Given the description of an element on the screen output the (x, y) to click on. 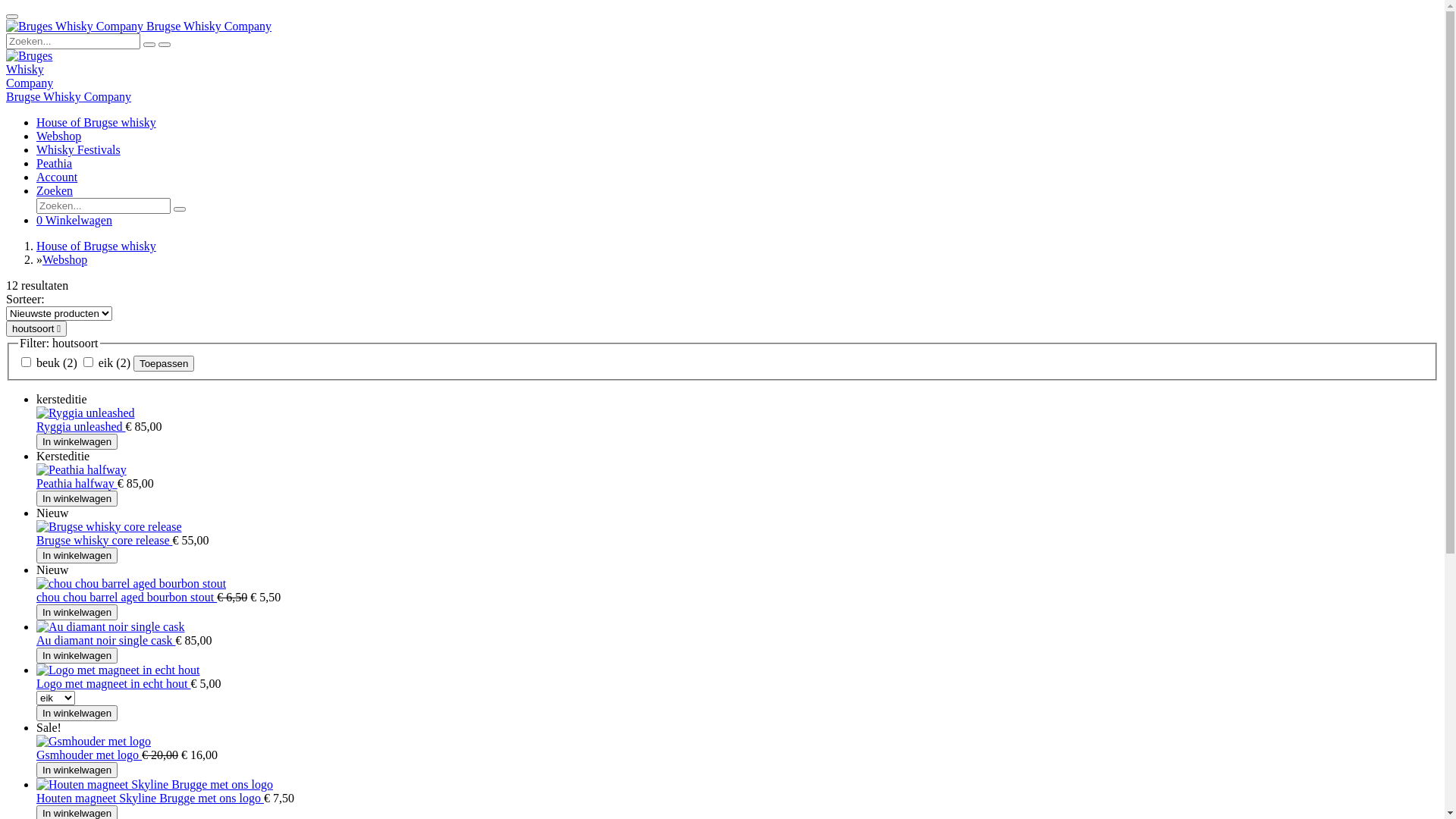
Ryggia unleashed Element type: text (80, 426)
In winkelwagen Element type: text (76, 612)
Houten magneet Skyline Brugge met ons logo Element type: text (149, 797)
In winkelwagen Element type: text (76, 713)
Bruges Whisky Company Element type: hover (74, 26)
Zoeken Element type: text (54, 190)
Webshop Element type: text (64, 259)
In winkelwagen Element type: text (76, 555)
Toepassen Element type: text (163, 363)
Account Element type: text (56, 176)
Logo met magneet in echt hout Element type: text (113, 683)
Gsmhouder met logo Element type: text (88, 754)
Au diamant noir single cask Element type: text (105, 639)
In winkelwagen Element type: text (76, 498)
Brugse Whisky Company Element type: text (138, 25)
House of Brugse whisky Element type: text (96, 245)
Peathia halfway Element type: text (76, 482)
Peathia Element type: text (54, 162)
In winkelwagen Element type: text (76, 441)
Brugse whisky core release Element type: text (104, 539)
Brugse Whisky Company Element type: text (68, 96)
House of Brugse whisky Element type: text (96, 122)
Whisky Festivals Element type: text (78, 149)
0 Winkelwagen Element type: text (74, 219)
Bruges Whisky Company Element type: hover (29, 69)
chou chou barrel aged bourbon stout Element type: text (126, 596)
In winkelwagen Element type: text (76, 770)
Webshop Element type: text (58, 135)
In winkelwagen Element type: text (76, 655)
